Given the description of an element on the screen output the (x, y) to click on. 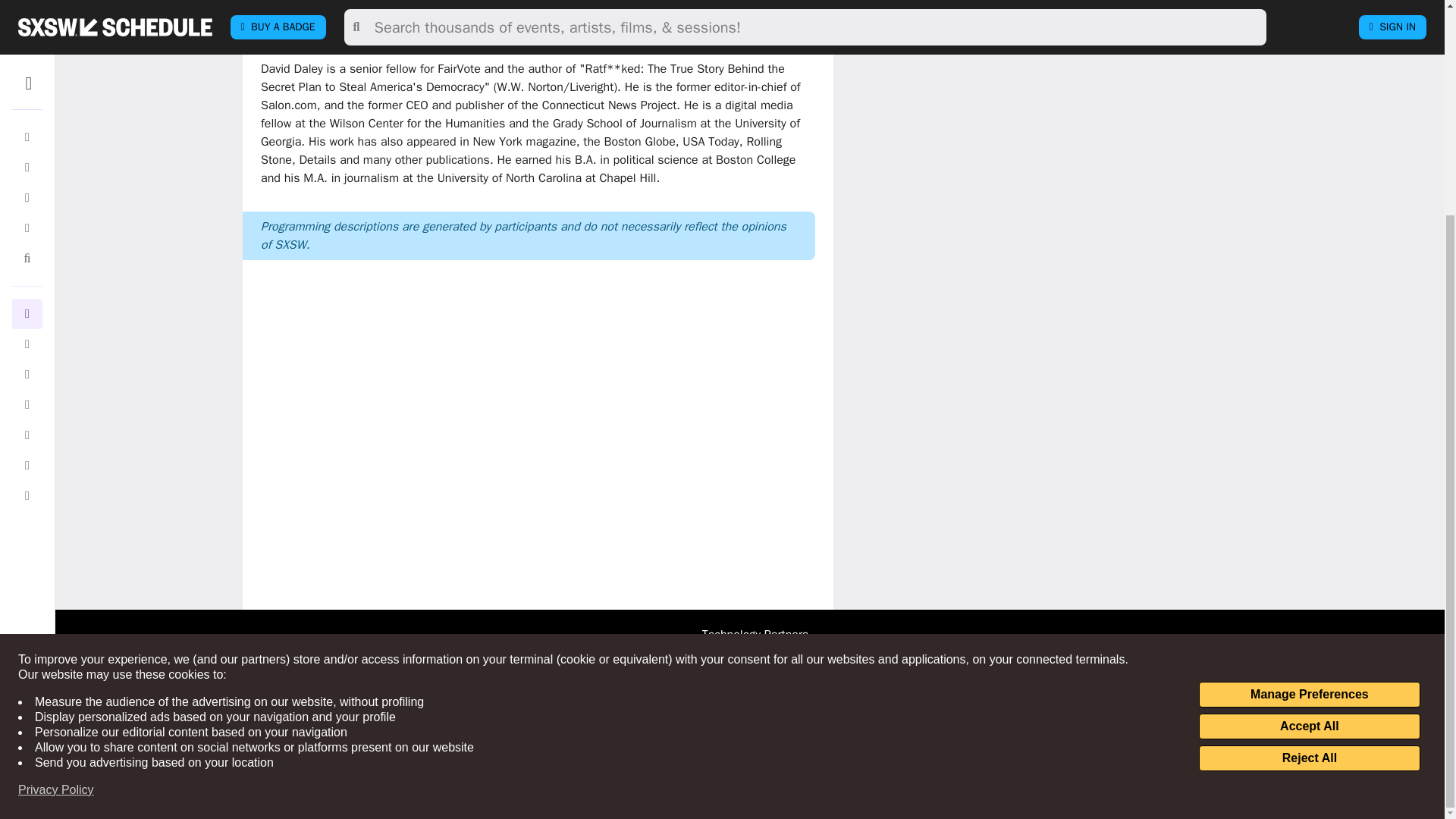
Accept All (1309, 444)
Privacy Policy (55, 507)
Manage Preferences (1309, 412)
Reject All (1309, 475)
